Given the description of an element on the screen output the (x, y) to click on. 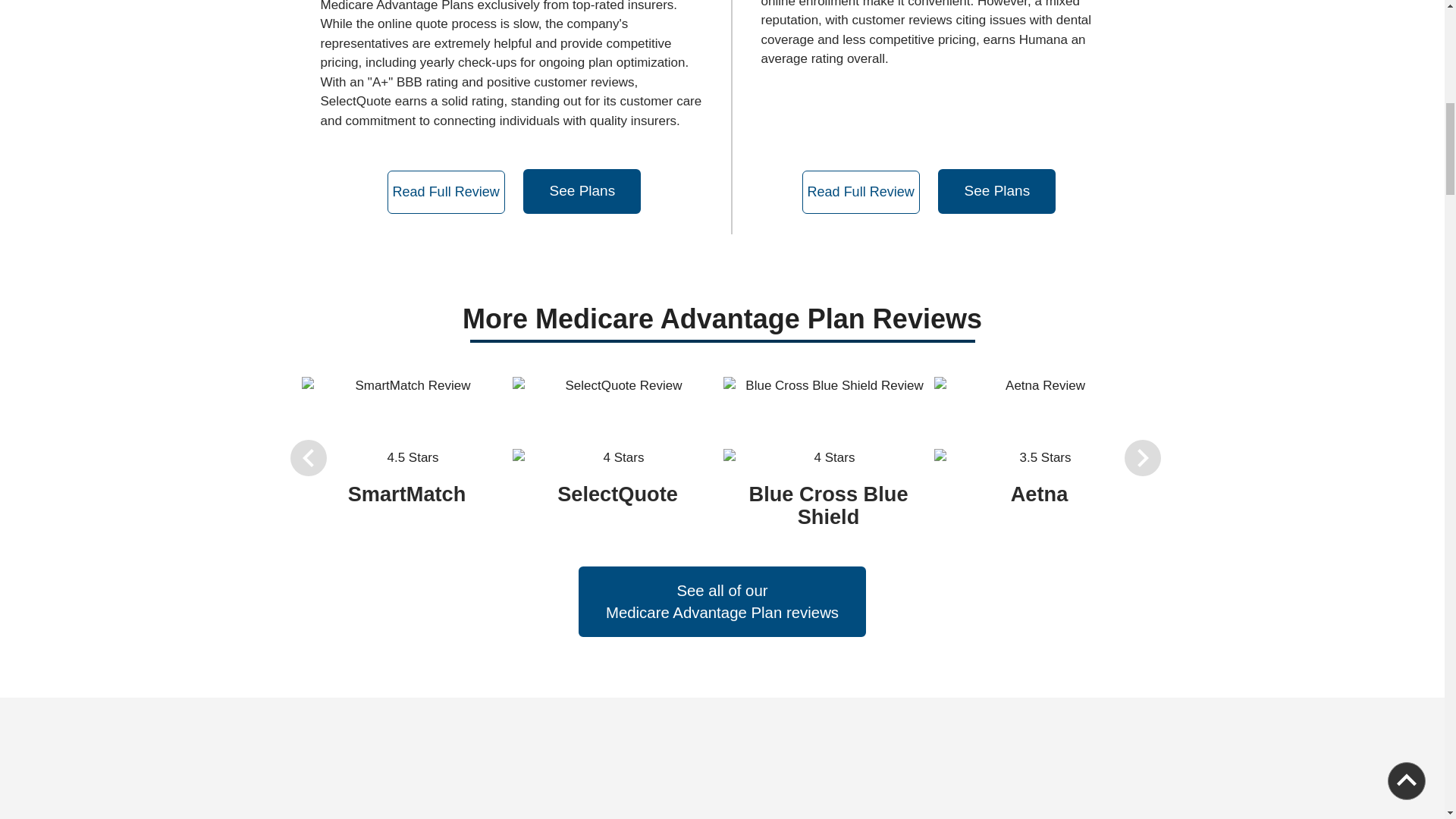
Read Our Humana Review (861, 191)
Visit Humana (996, 190)
Visit SelectQuote (581, 190)
Medicare Advantage Plan reviews (722, 613)
Read Our SelectQuote Review (446, 191)
